Given the description of an element on the screen output the (x, y) to click on. 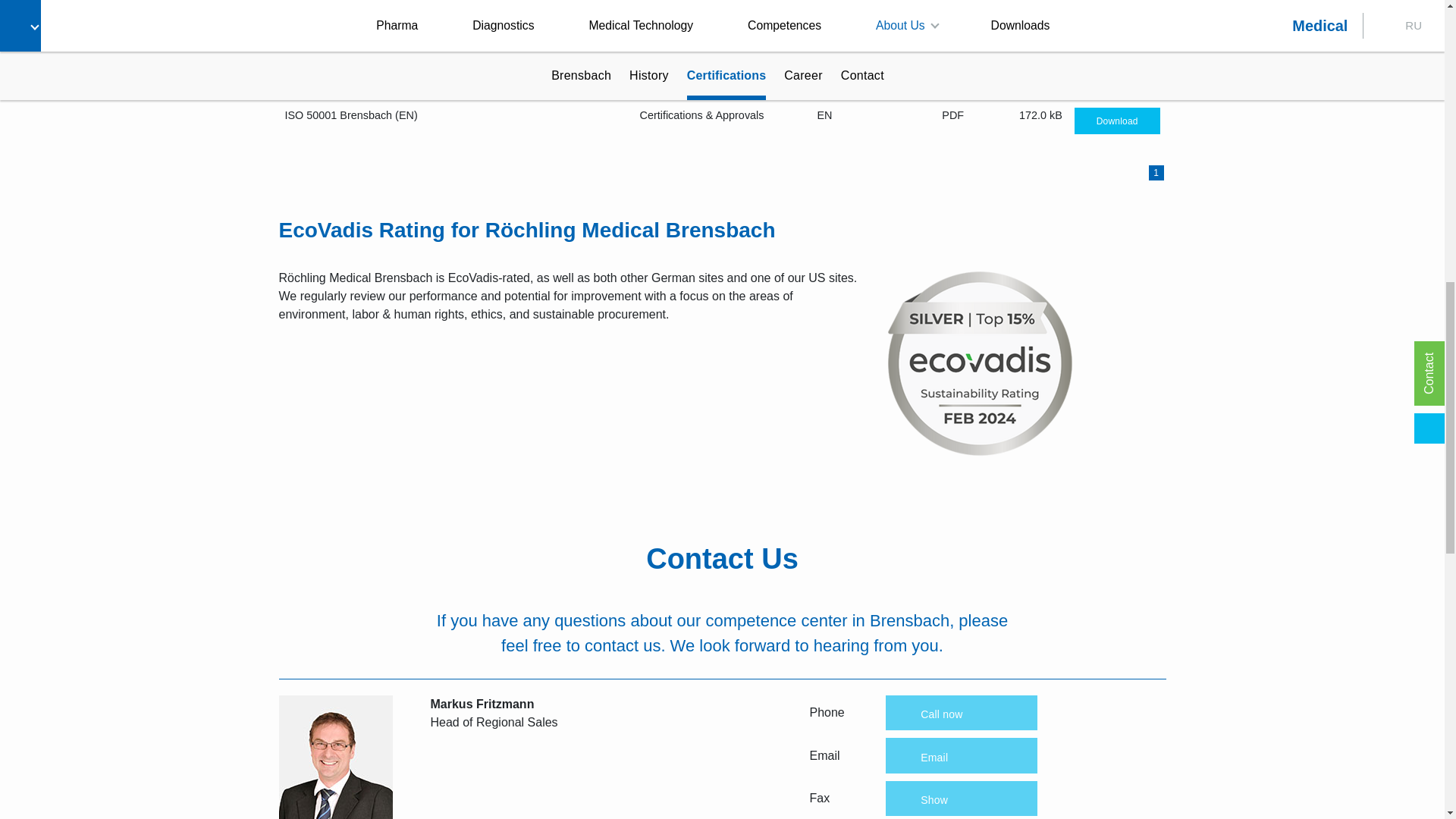
Call now (960, 712)
Download (1117, 120)
Download (1117, 27)
Email (960, 755)
1 (1155, 172)
Download (1117, 73)
